Given the description of an element on the screen output the (x, y) to click on. 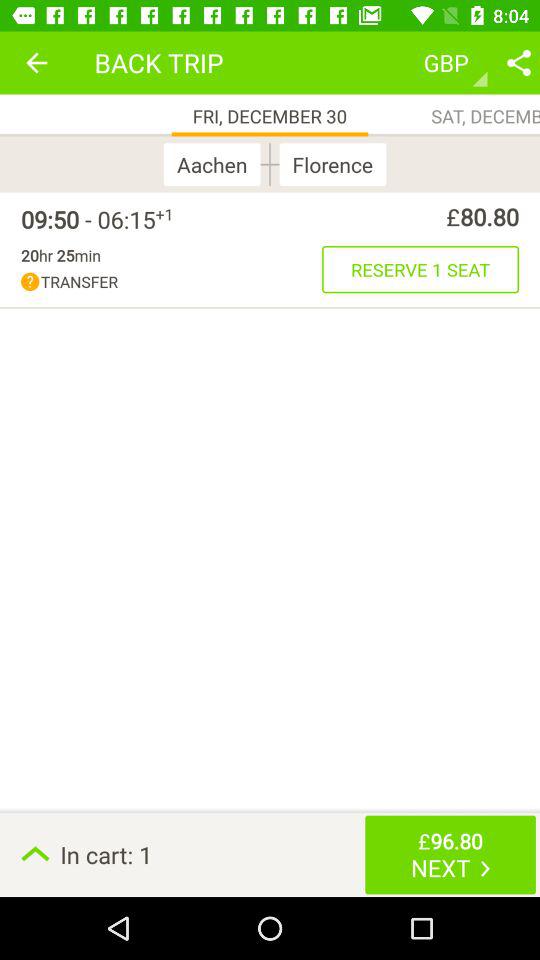
jump until the florence icon (328, 164)
